Given the description of an element on the screen output the (x, y) to click on. 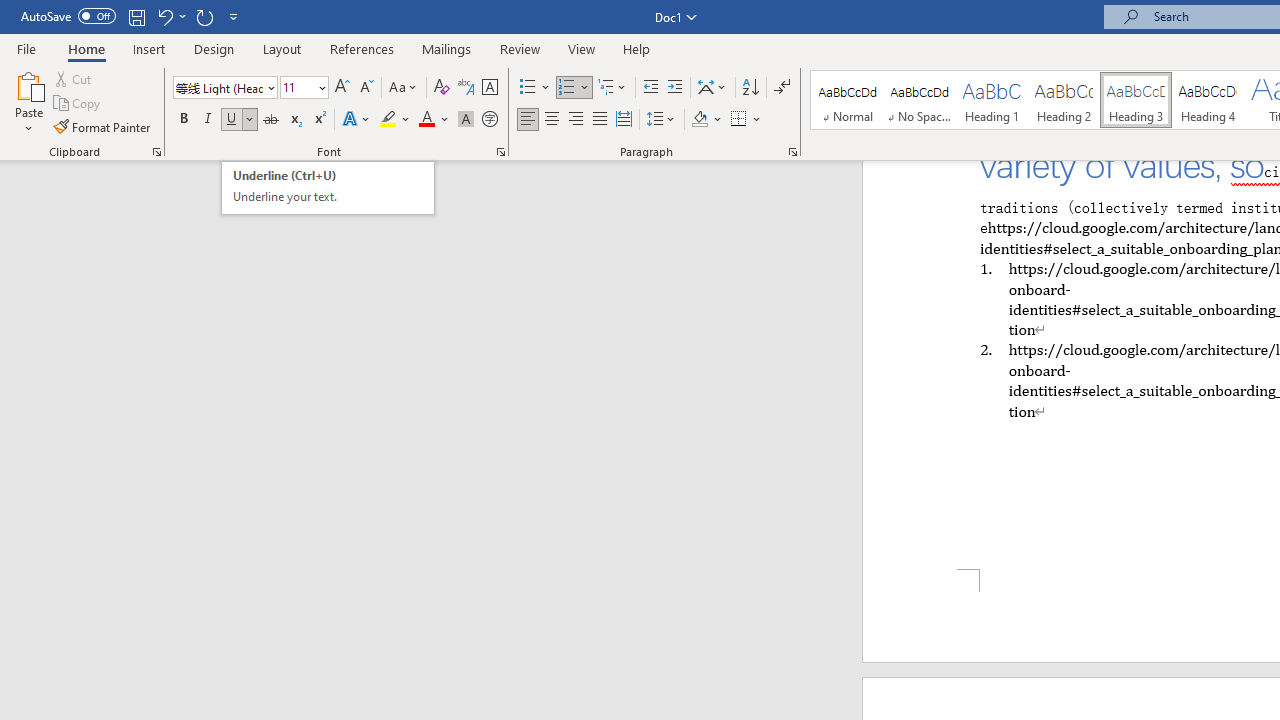
Font Color Blue-Gray, Text 2 (328, 188)
